Given the description of an element on the screen output the (x, y) to click on. 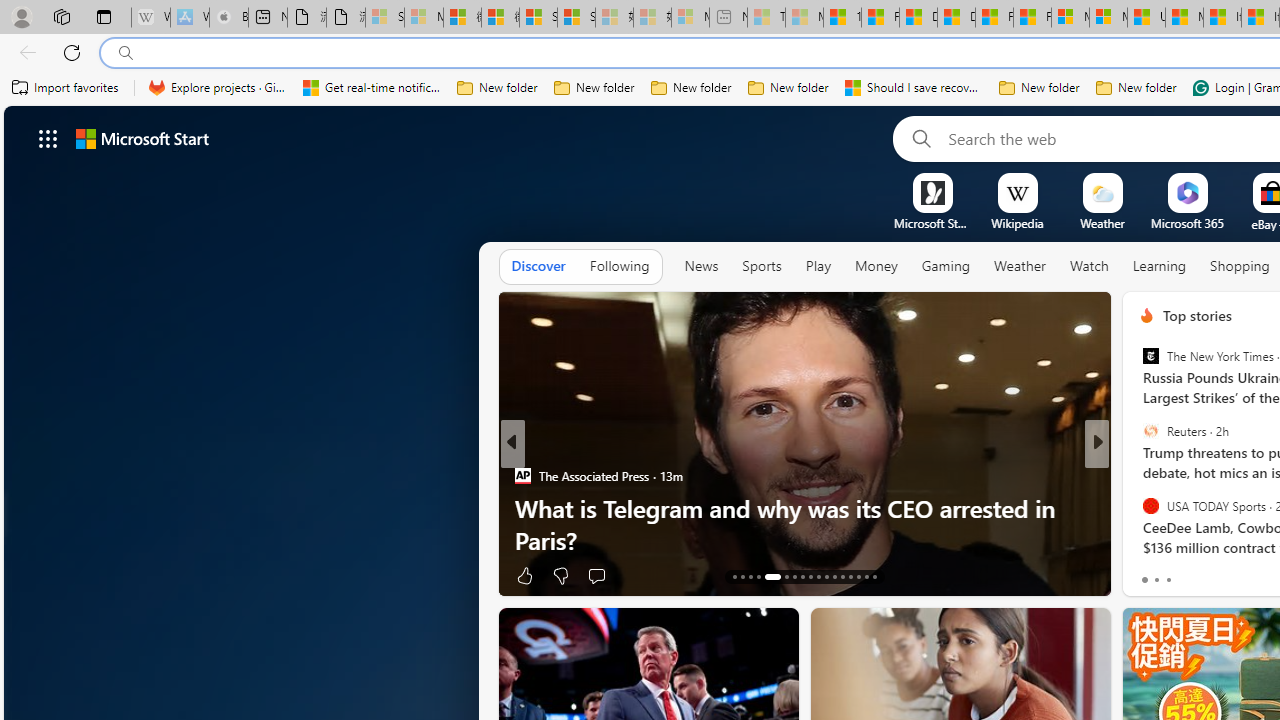
AutomationID: tab-31 (857, 576)
BuzzFeed (1138, 507)
Microsoft Services Agreement - Sleeping (423, 17)
AutomationID: tab-16 (757, 576)
Money (876, 267)
tab-1 (1156, 579)
Marine life - MSN - Sleeping (804, 17)
Sign in to your Microsoft account - Sleeping (385, 17)
3 Like (1145, 574)
View comments 1 Comment (1234, 574)
View comments 7 Comment (1229, 575)
View comments 8 Comment (1229, 575)
Discover (538, 267)
